Given the description of an element on the screen output the (x, y) to click on. 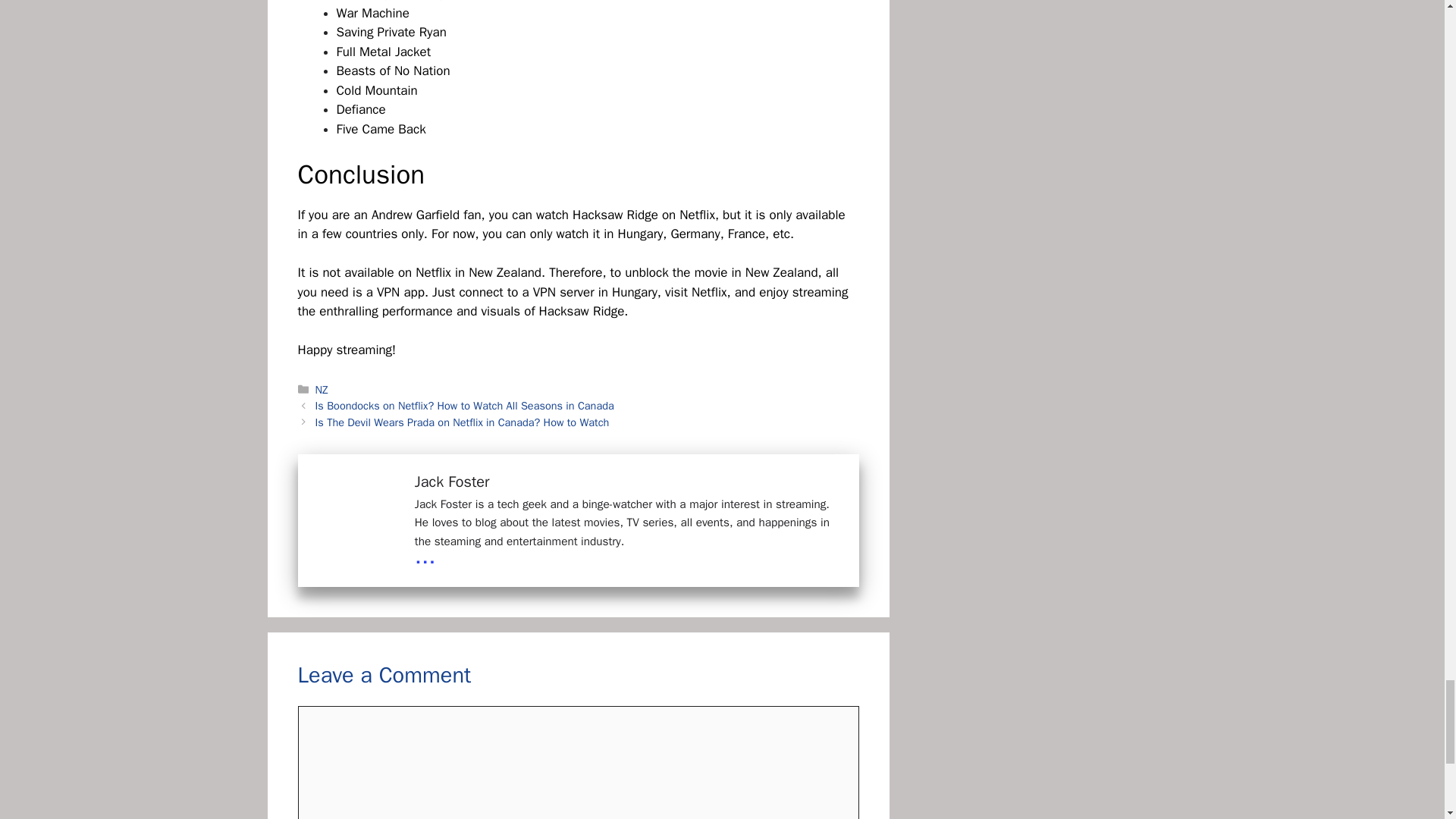
Is The Devil Wears Prada on Netflix in Canada? How to Watch (462, 422)
NZ (322, 389)
Is Boondocks on Netflix? How to Watch All Seasons in Canada (464, 405)
